Given the description of an element on the screen output the (x, y) to click on. 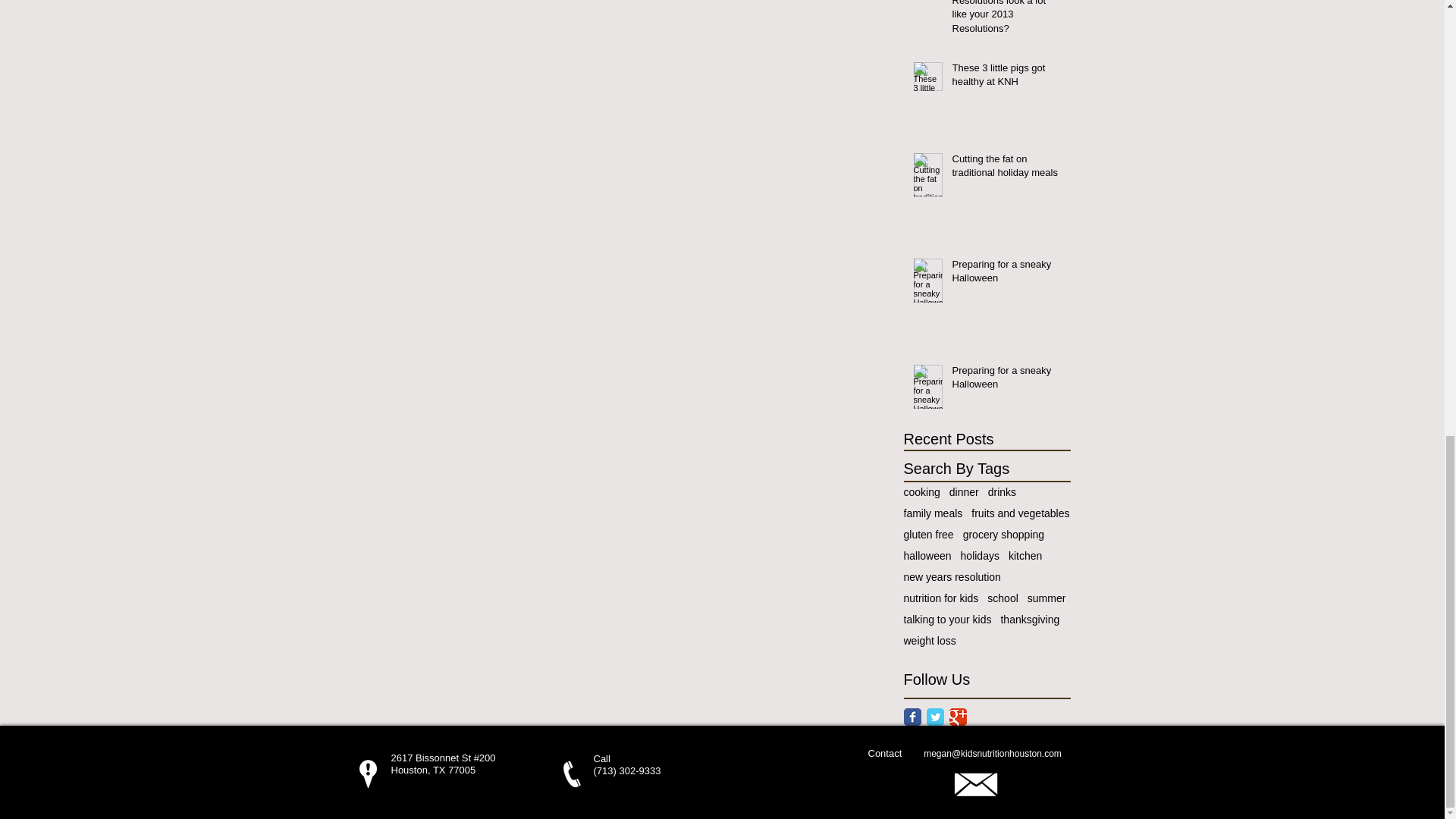
family meals (933, 512)
school (1002, 598)
kitchen (1025, 555)
drinks (1002, 491)
halloween (928, 555)
nutrition for kids (941, 598)
holidays (979, 555)
These 3 little pigs got healthy at KNH (1006, 78)
fruits and vegetables (1019, 512)
grocery shopping (1002, 534)
